Given the description of an element on the screen output the (x, y) to click on. 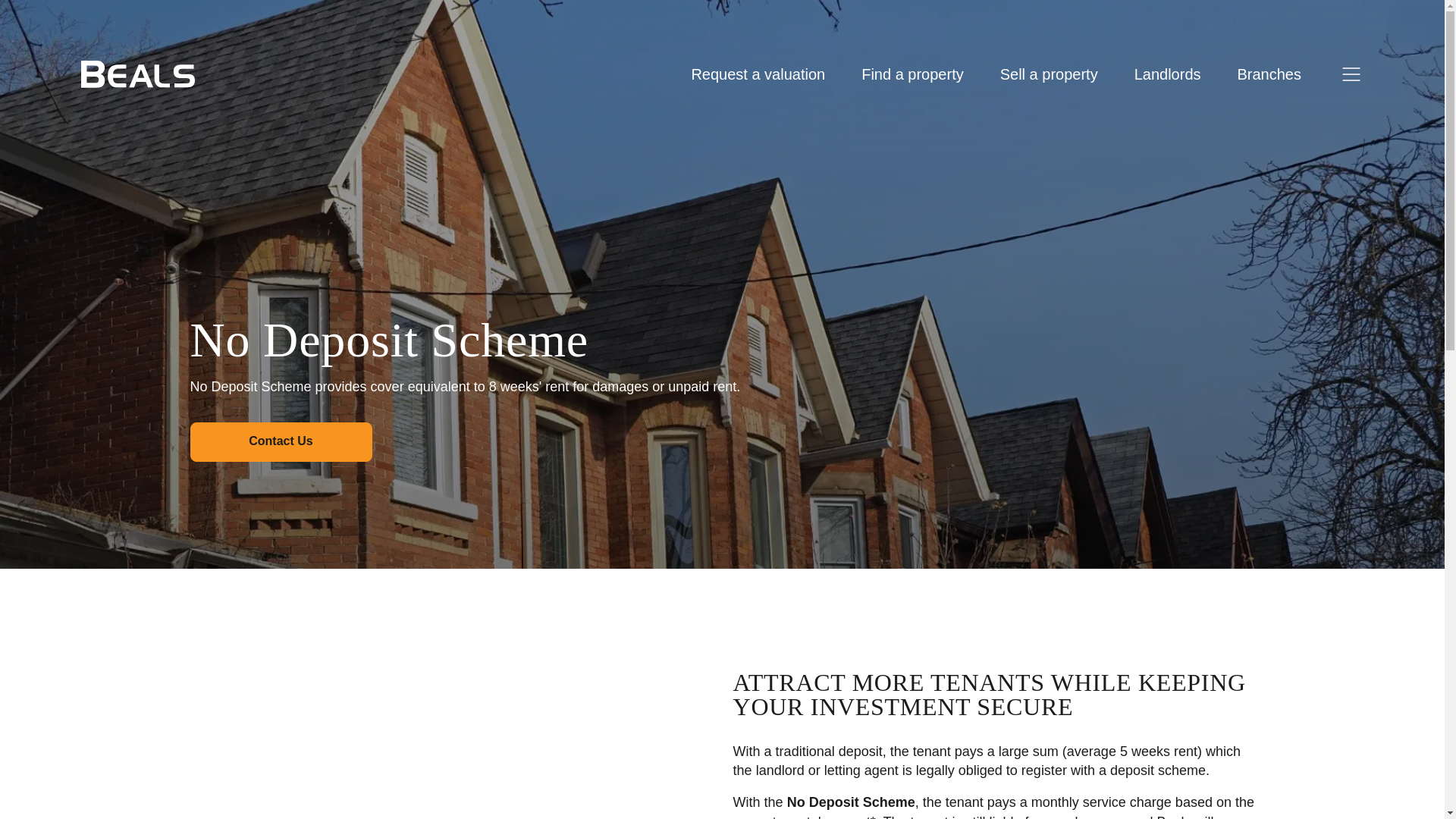
Request a valuation (757, 73)
Find a property (912, 73)
Sell a property (1048, 73)
Branches (1269, 73)
Landlords (1167, 73)
